Given the description of an element on the screen output the (x, y) to click on. 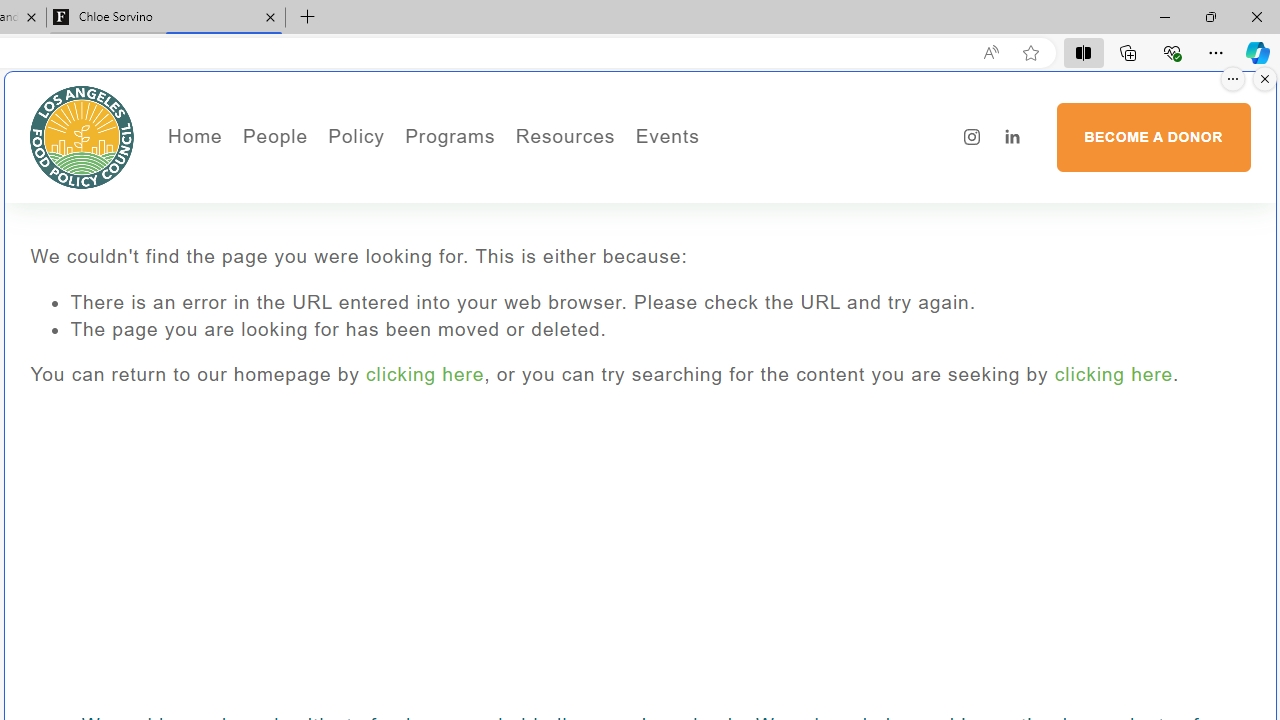
Events (734, 176)
People (341, 205)
Policy (356, 136)
Cultivating Farmers (504, 232)
LinkedIn (1012, 137)
Programs (450, 136)
SoCal Impact Food Fund (643, 205)
Instagram (972, 137)
